Given the description of an element on the screen output the (x, y) to click on. 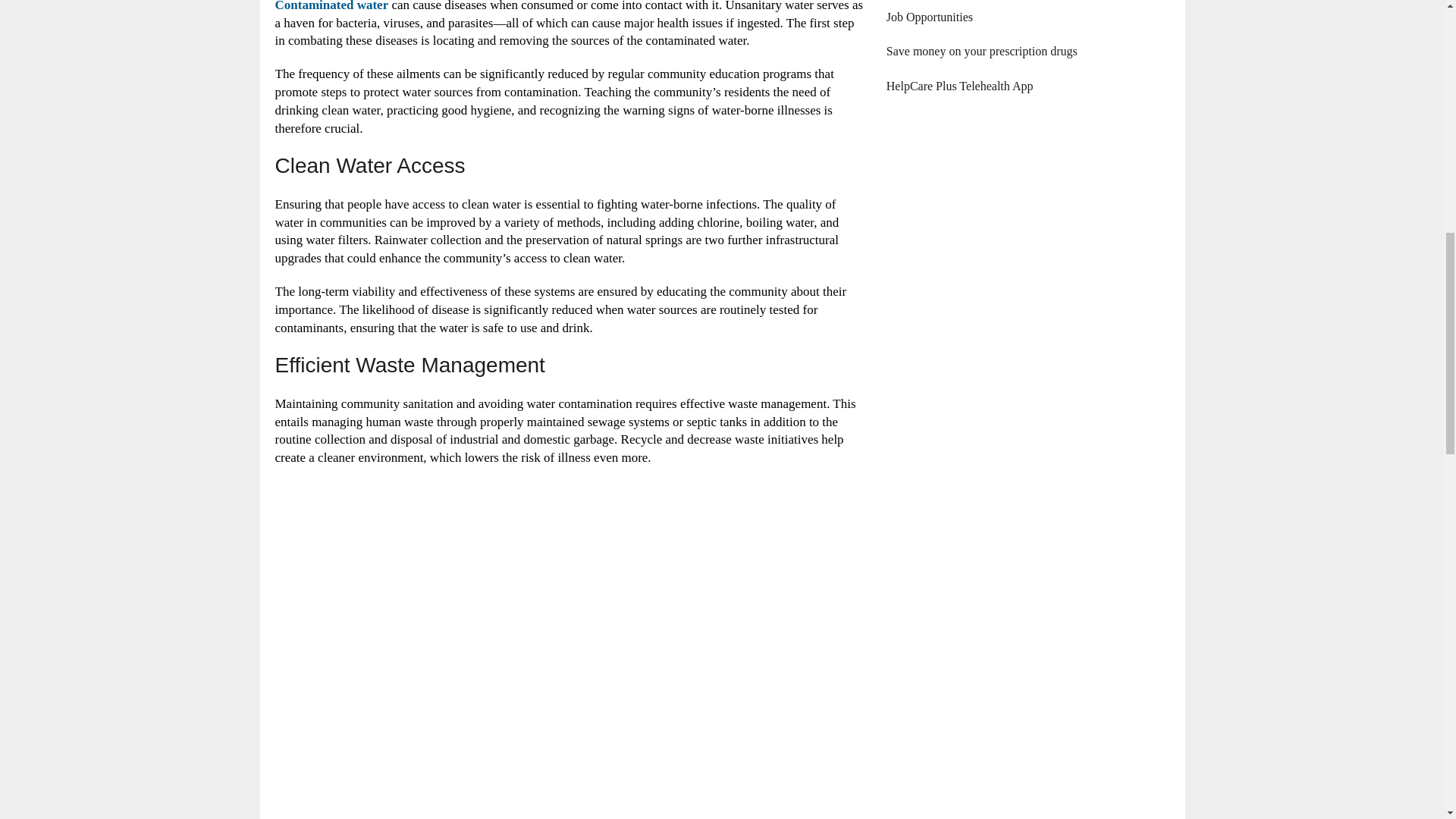
HelpCare Plus Telehealth App (959, 85)
Job Opportunities (929, 16)
Save money on your prescription drugs (981, 51)
Contaminated water (331, 6)
